Given the description of an element on the screen output the (x, y) to click on. 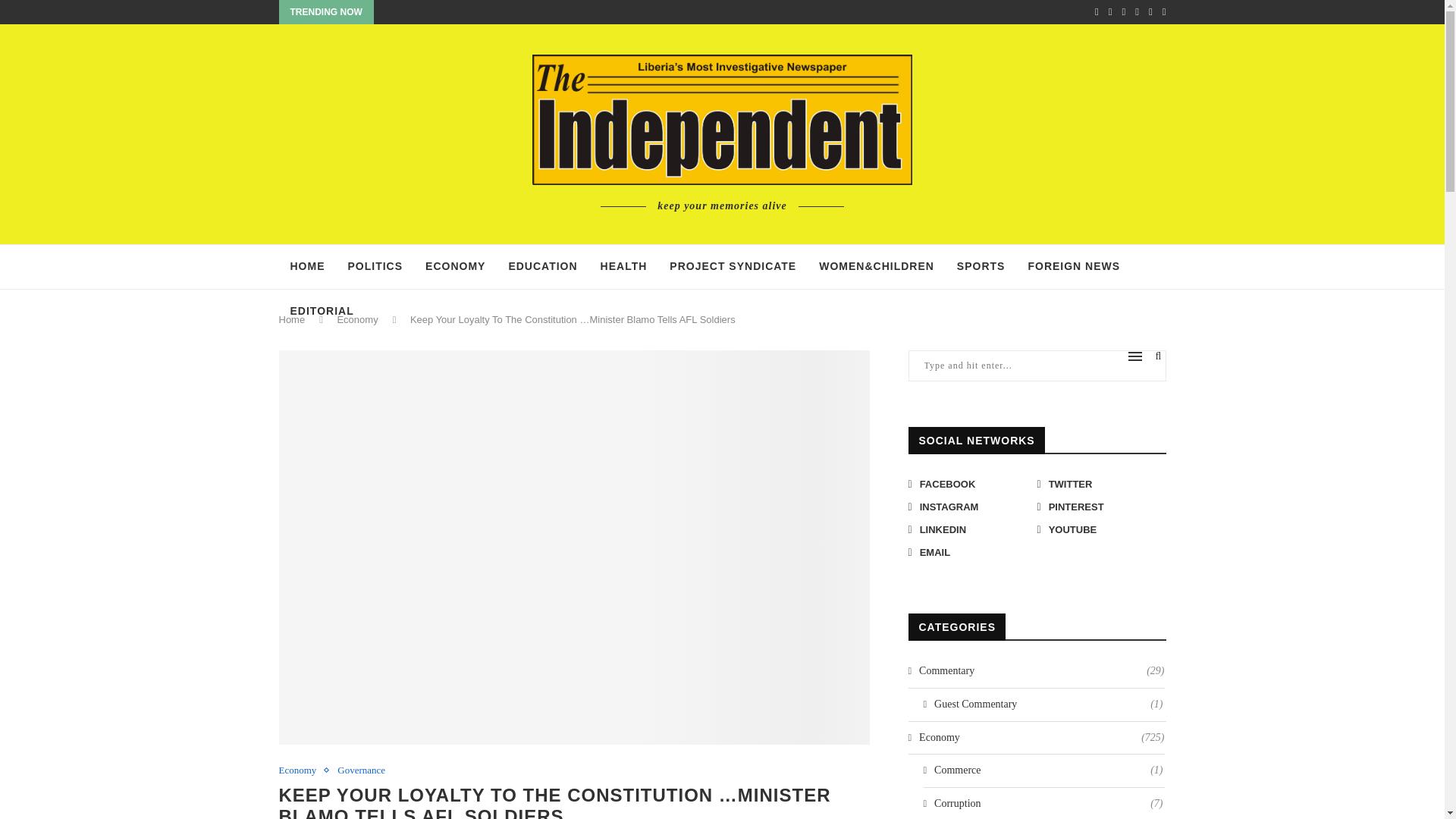
ECONOMY (454, 266)
HEALTH (624, 266)
POLITICS (375, 266)
HOME (307, 266)
EDUCATION (542, 266)
